Given the description of an element on the screen output the (x, y) to click on. 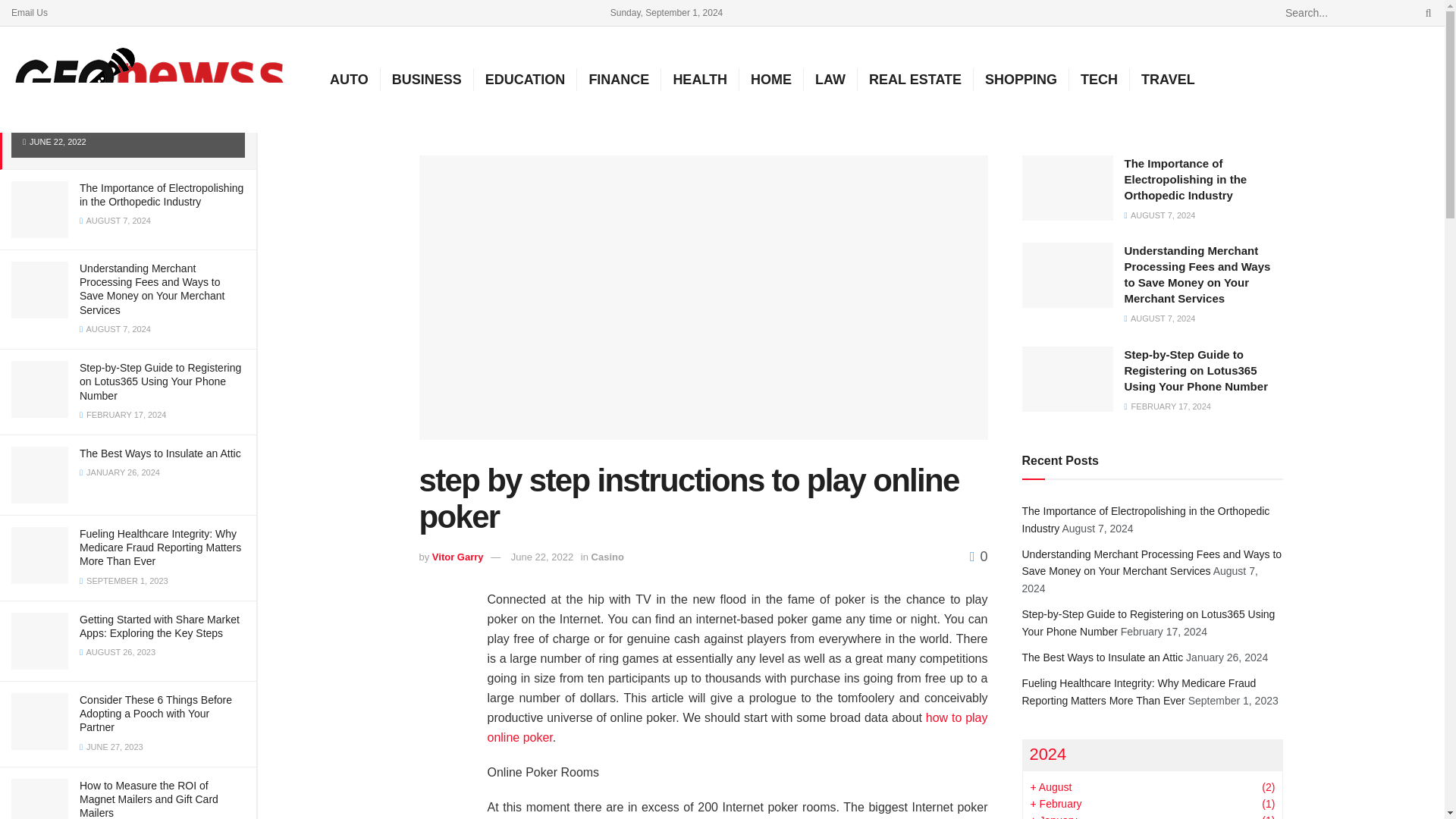
Email Us (29, 12)
AUTO (348, 78)
EDUCATION (525, 78)
BUSINESS (426, 78)
HEALTH (700, 78)
HOME (770, 78)
step by step instructions to play online poker (126, 111)
LAW (830, 78)
